Given the description of an element on the screen output the (x, y) to click on. 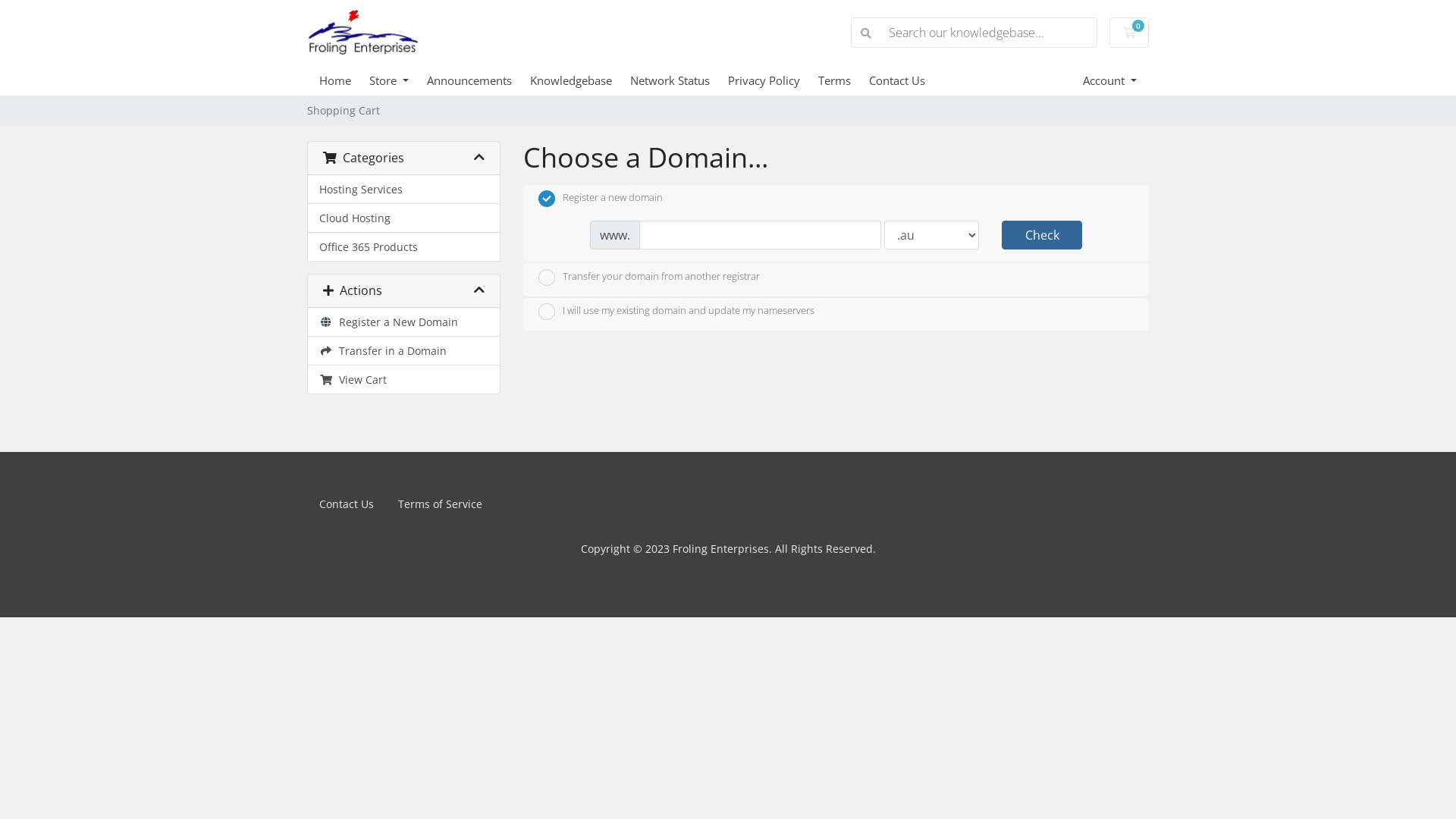
Store Element type: text (397, 79)
Home Element type: text (344, 79)
Knowledgebase Element type: text (580, 79)
Contact Us Element type: text (906, 79)
Account Element type: text (1109, 79)
  Transfer in a Domain Element type: text (403, 350)
Terms of Service Element type: text (439, 503)
0
Shopping Cart Element type: text (1128, 32)
Hosting Services Element type: text (403, 189)
Cloud Hosting Element type: text (403, 217)
Check Element type: text (1041, 234)
Network Status Element type: text (679, 79)
Contact Us Element type: text (346, 503)
  Register a New Domain Element type: text (403, 321)
Please enter your domain Element type: hover (760, 234)
Announcements Element type: text (478, 79)
Terms Element type: text (843, 79)
  View Cart Element type: text (403, 379)
Office 365 Products Element type: text (403, 246)
Privacy Policy Element type: text (773, 79)
